Given the description of an element on the screen output the (x, y) to click on. 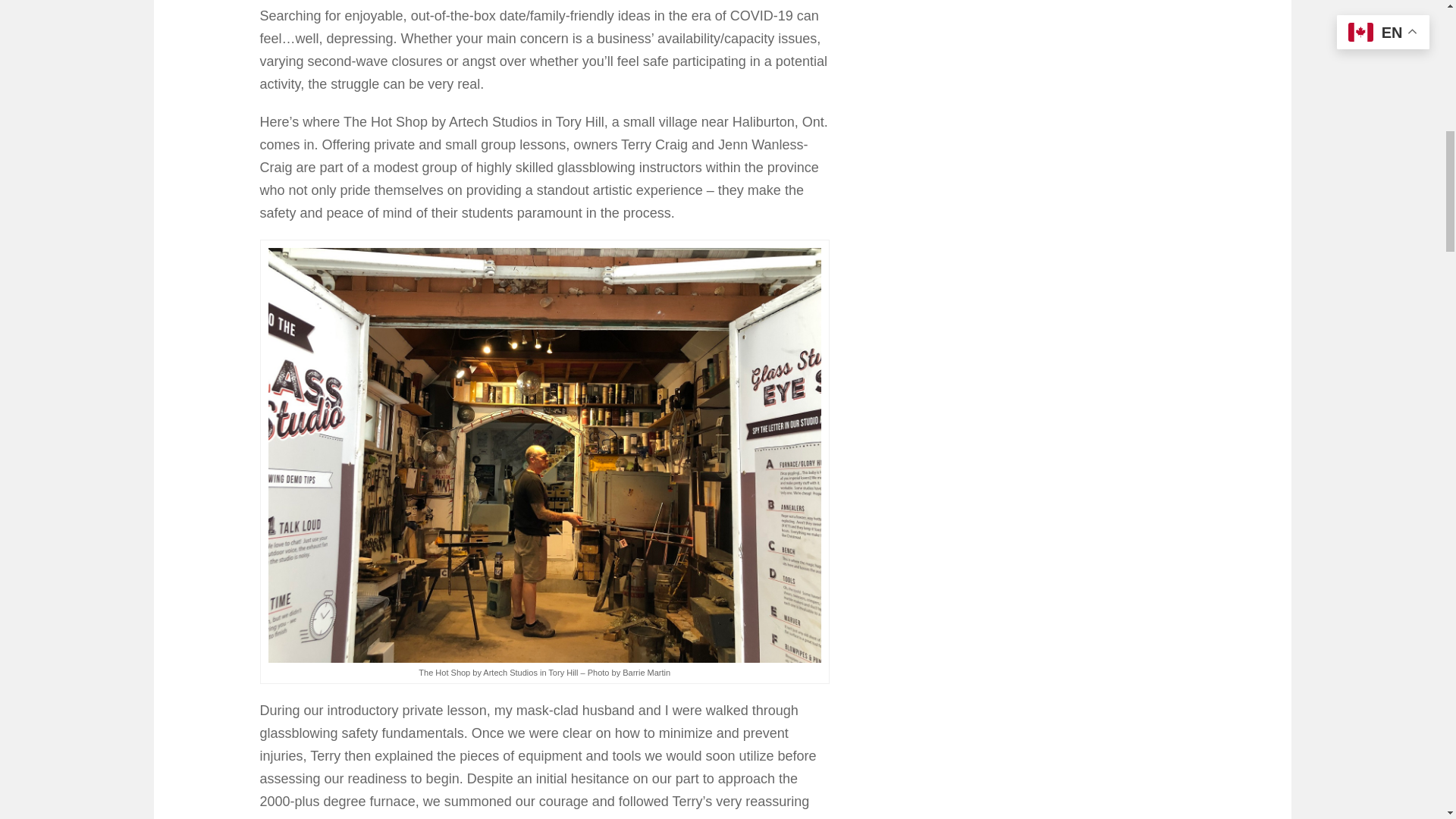
Advertisement (1024, 20)
